Given the description of an element on the screen output the (x, y) to click on. 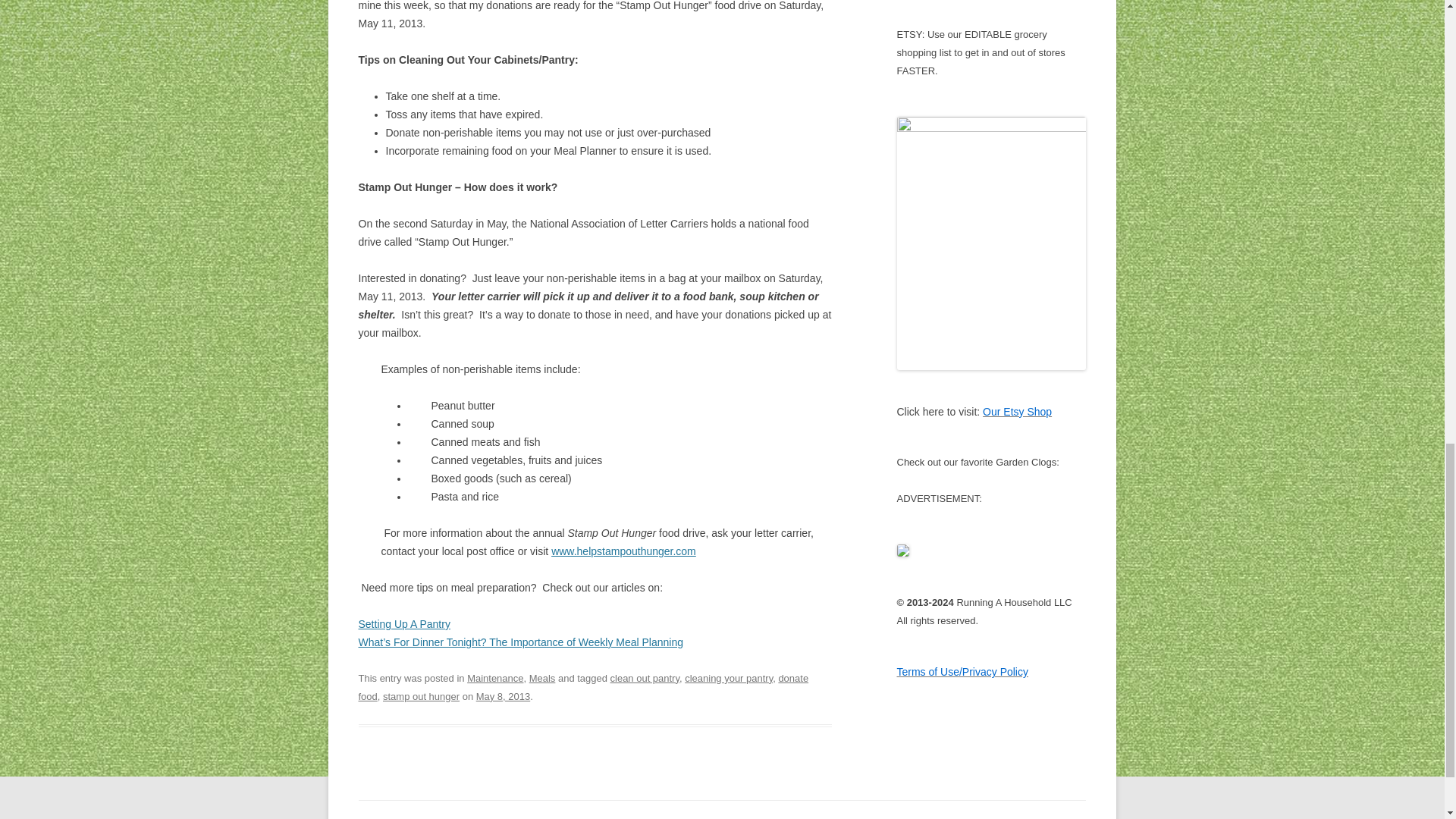
9:25 am (502, 696)
donate food (583, 686)
Our Etsy Shop (1016, 411)
Setting Up A Pantry (403, 623)
stamp out hunger (421, 696)
clean out pantry (644, 677)
Meals (542, 677)
May 8, 2013 (502, 696)
Maintenance (494, 677)
www.helpstampouthunger.com (623, 551)
